Given the description of an element on the screen output the (x, y) to click on. 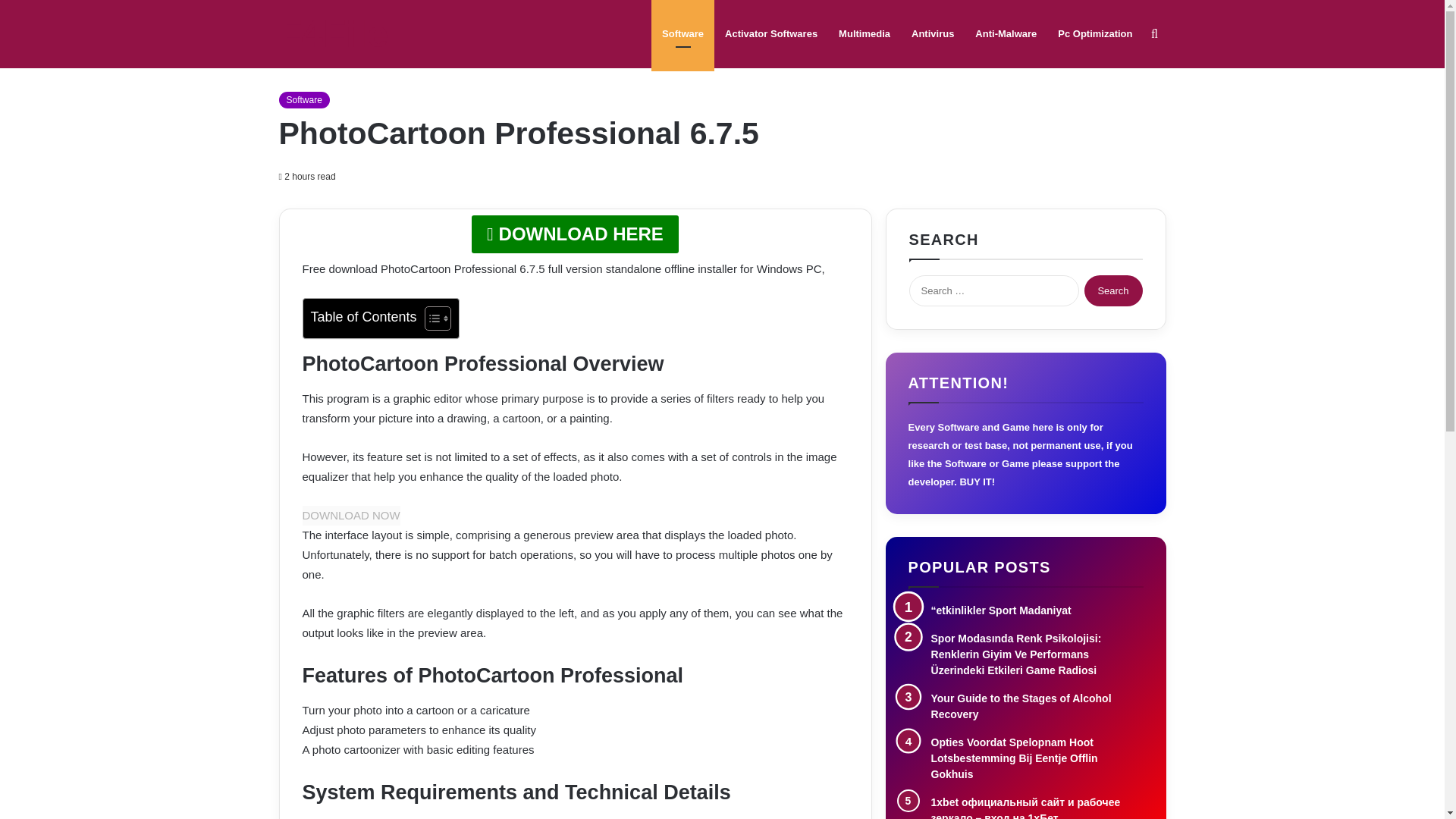
Anti-Malware (1004, 33)
Activator Softwares (771, 33)
Search (1113, 290)
Software (682, 33)
Search (1113, 290)
Search (1113, 290)
F4File (333, 34)
Pc Optimization (1094, 33)
Multimedia (864, 33)
DOWNLOAD NOW (349, 515)
